Given the description of an element on the screen output the (x, y) to click on. 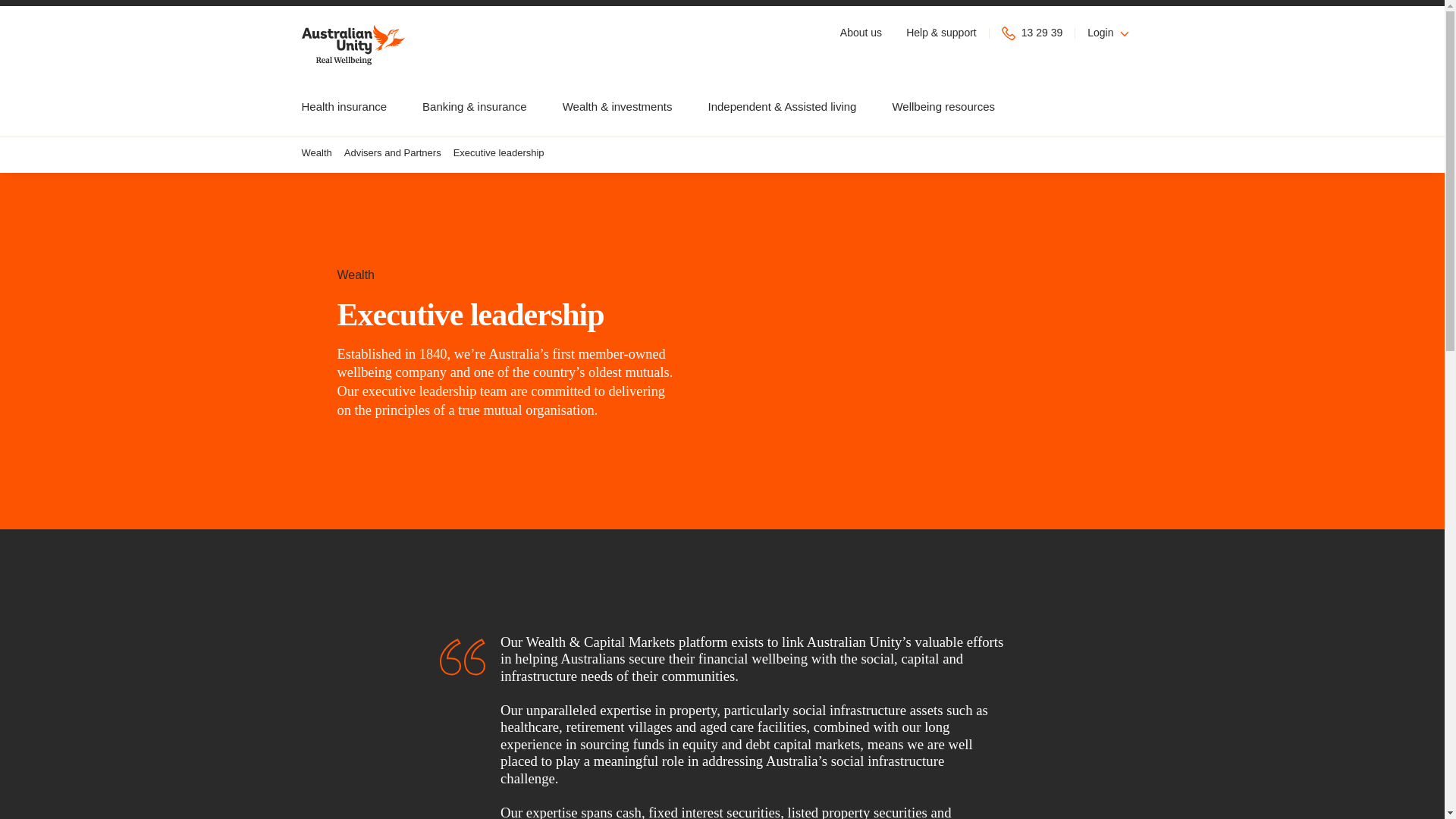
Search Australian Unity (1136, 105)
About us (860, 32)
Health insurance (344, 106)
13 29 39 (1032, 32)
Login (1108, 32)
